Given the description of an element on the screen output the (x, y) to click on. 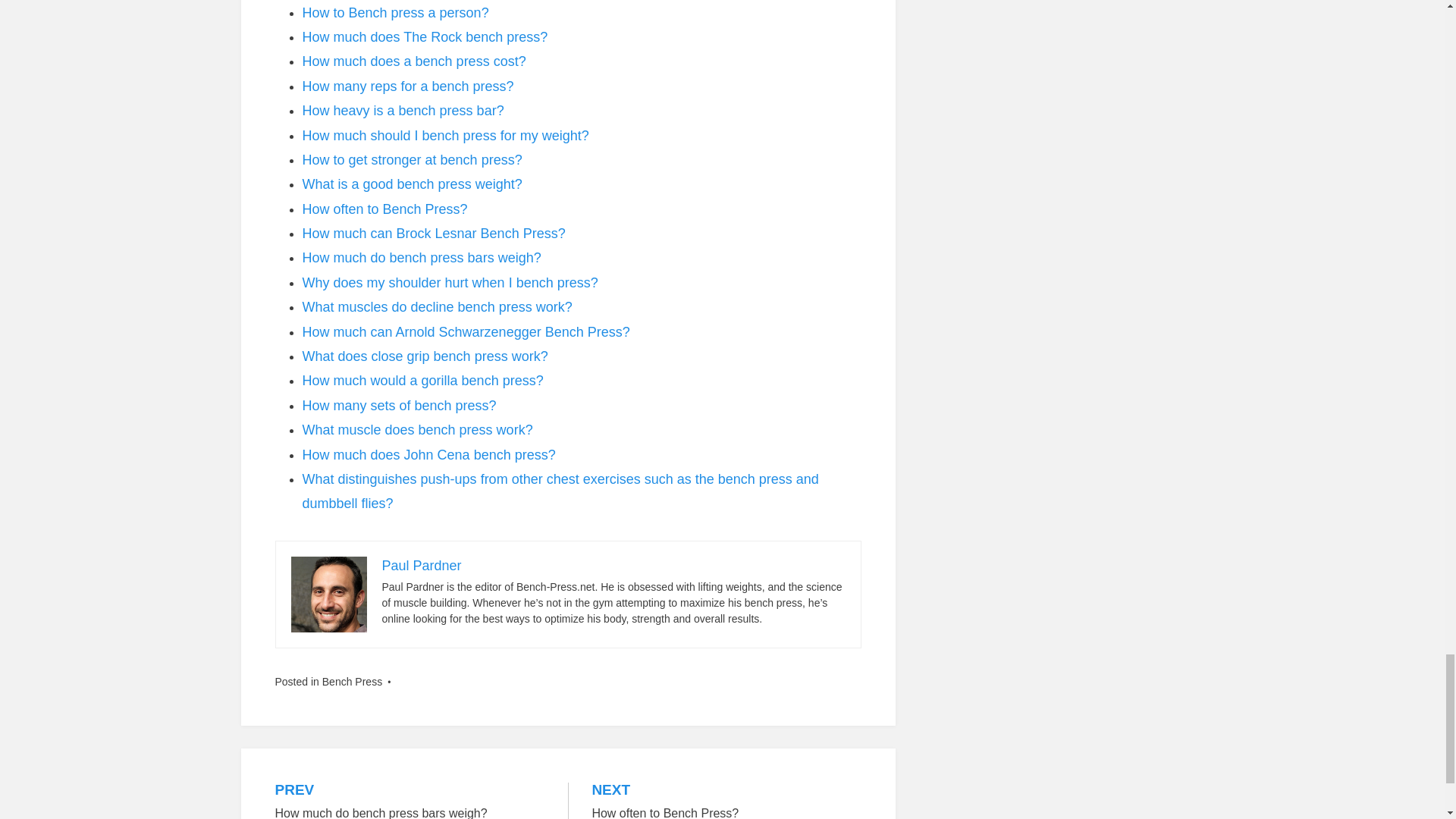
What muscles do decline bench press work? (436, 306)
How heavy is a bench press bar? (402, 110)
What is a good bench press weight? (411, 183)
How to get stronger at bench press? (411, 159)
How to Bench press a person? (394, 12)
How much should I bench press for my weight? (444, 135)
How much can Brock Lesnar Bench Press? (432, 233)
How much do bench press bars weigh? (420, 257)
How much does The Rock bench press? (424, 37)
How often to Bench Press? (384, 209)
